Given the description of an element on the screen output the (x, y) to click on. 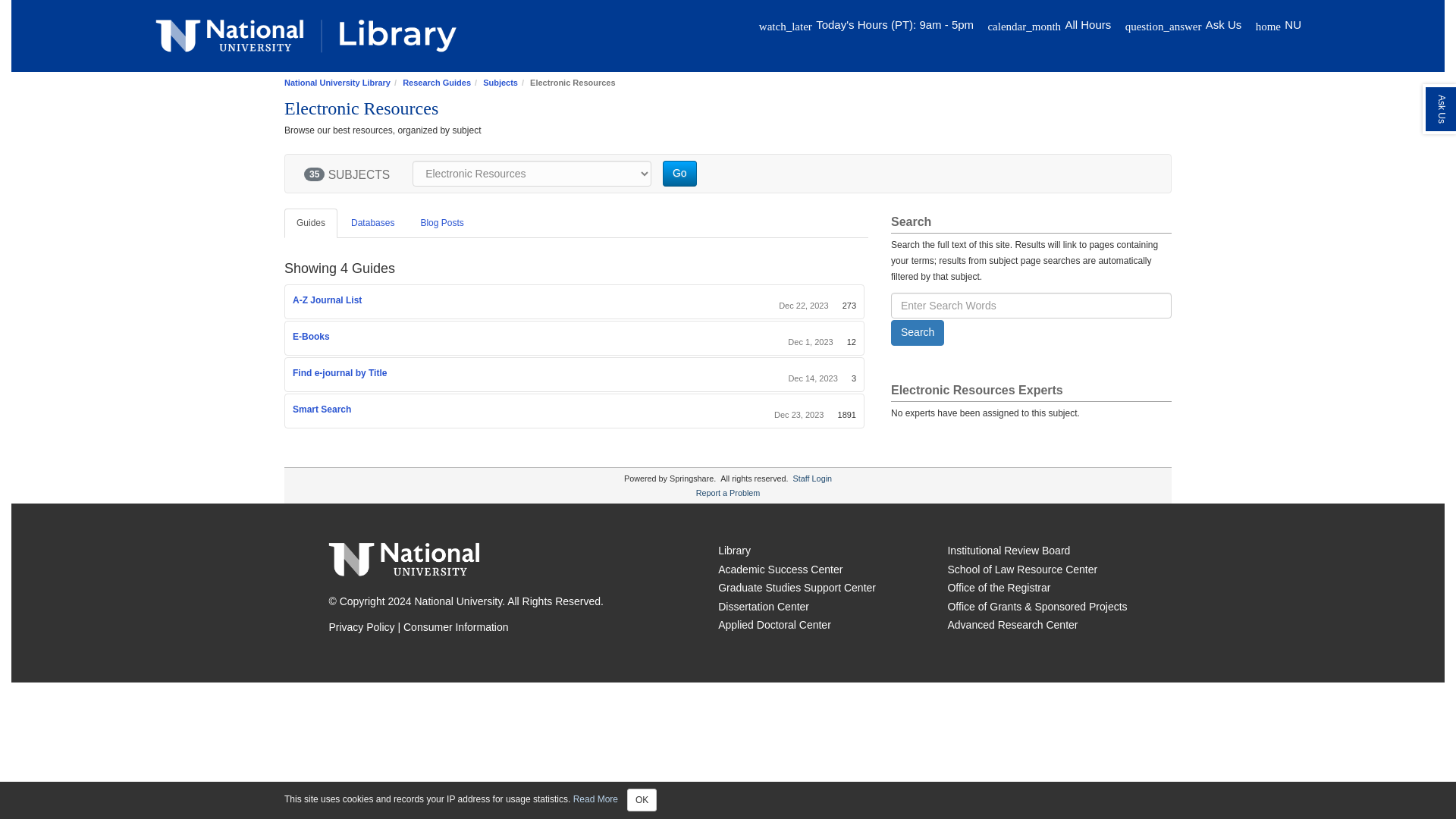
Last update (809, 341)
E-Books (311, 336)
Ask Us (1223, 24)
Blog Posts (441, 223)
Go (679, 173)
Smart Search (321, 409)
Number of visits this year (849, 305)
Guides (310, 223)
Number of visits this year (853, 378)
Search (917, 332)
Find e-journal by Title (339, 372)
NU (1292, 24)
Databases (372, 223)
All Hours (1087, 24)
Last update (803, 305)
